Given the description of an element on the screen output the (x, y) to click on. 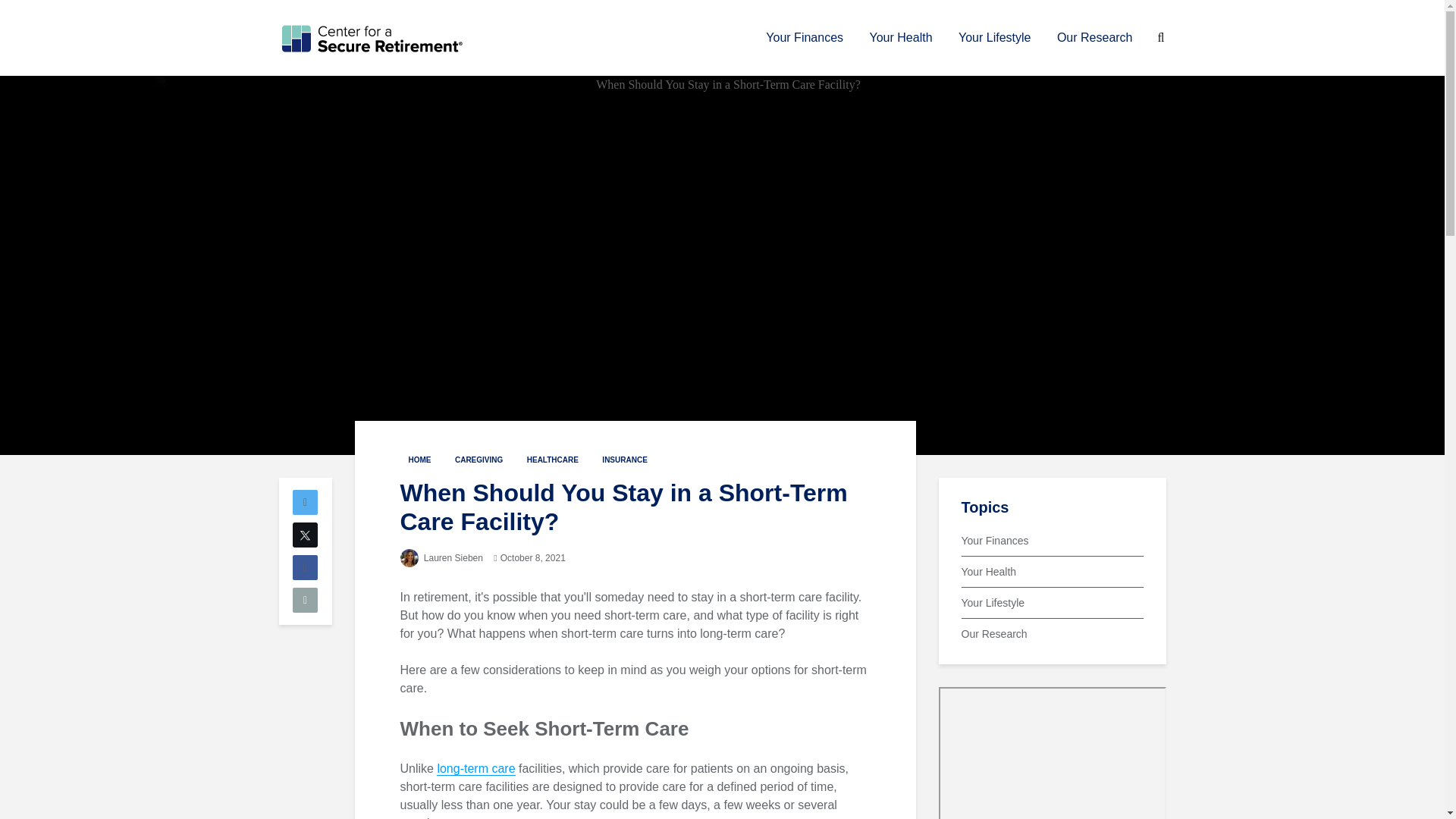
HEALTHCARE (552, 459)
HOME (419, 459)
CAREGIVING (478, 459)
Your Health (901, 37)
Your Lifestyle (994, 37)
Our Research (1094, 37)
Your Finances (804, 37)
